Given the description of an element on the screen output the (x, y) to click on. 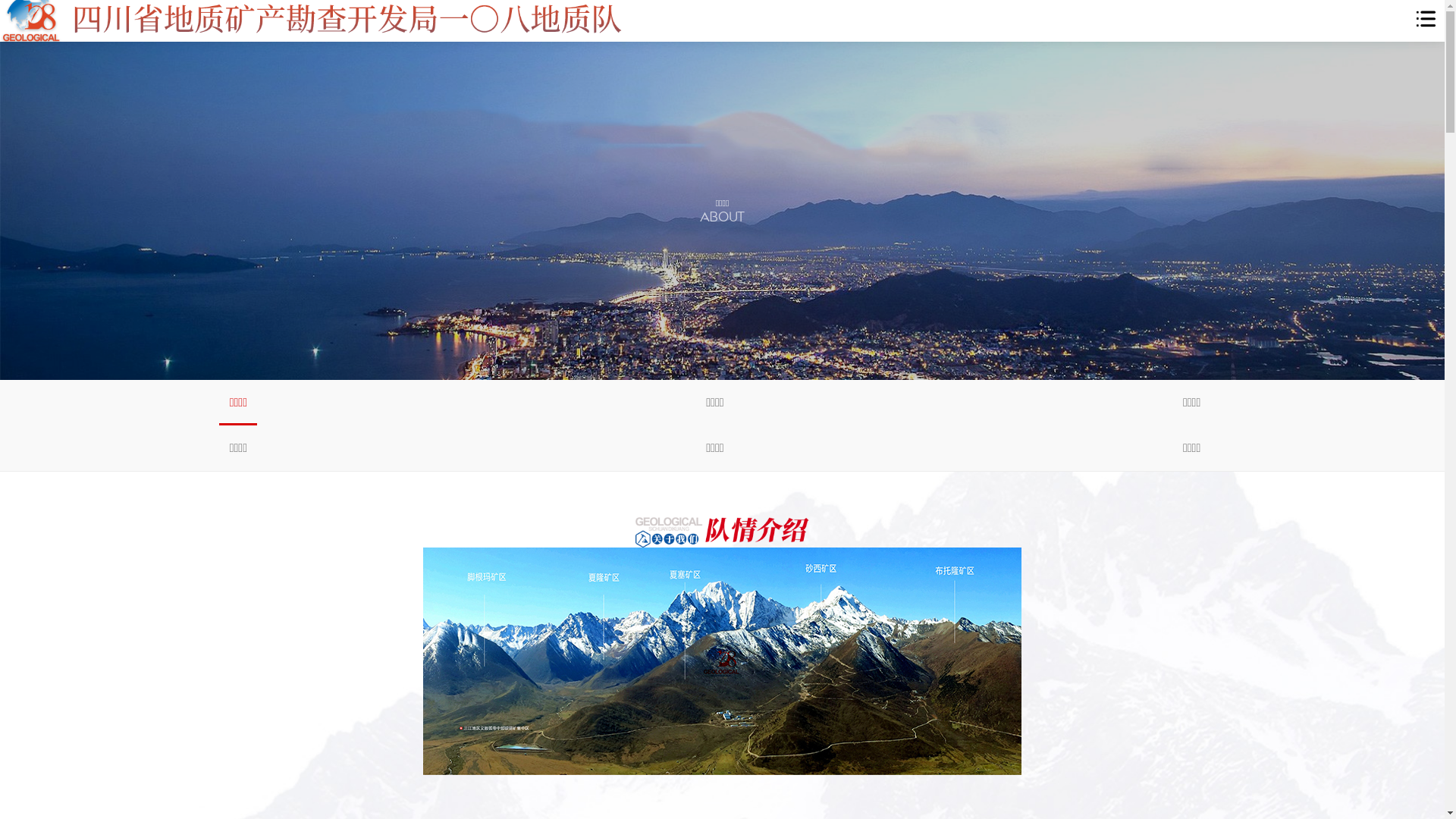
1544602367393355.jpg Element type: hover (722, 661)
